Given the description of an element on the screen output the (x, y) to click on. 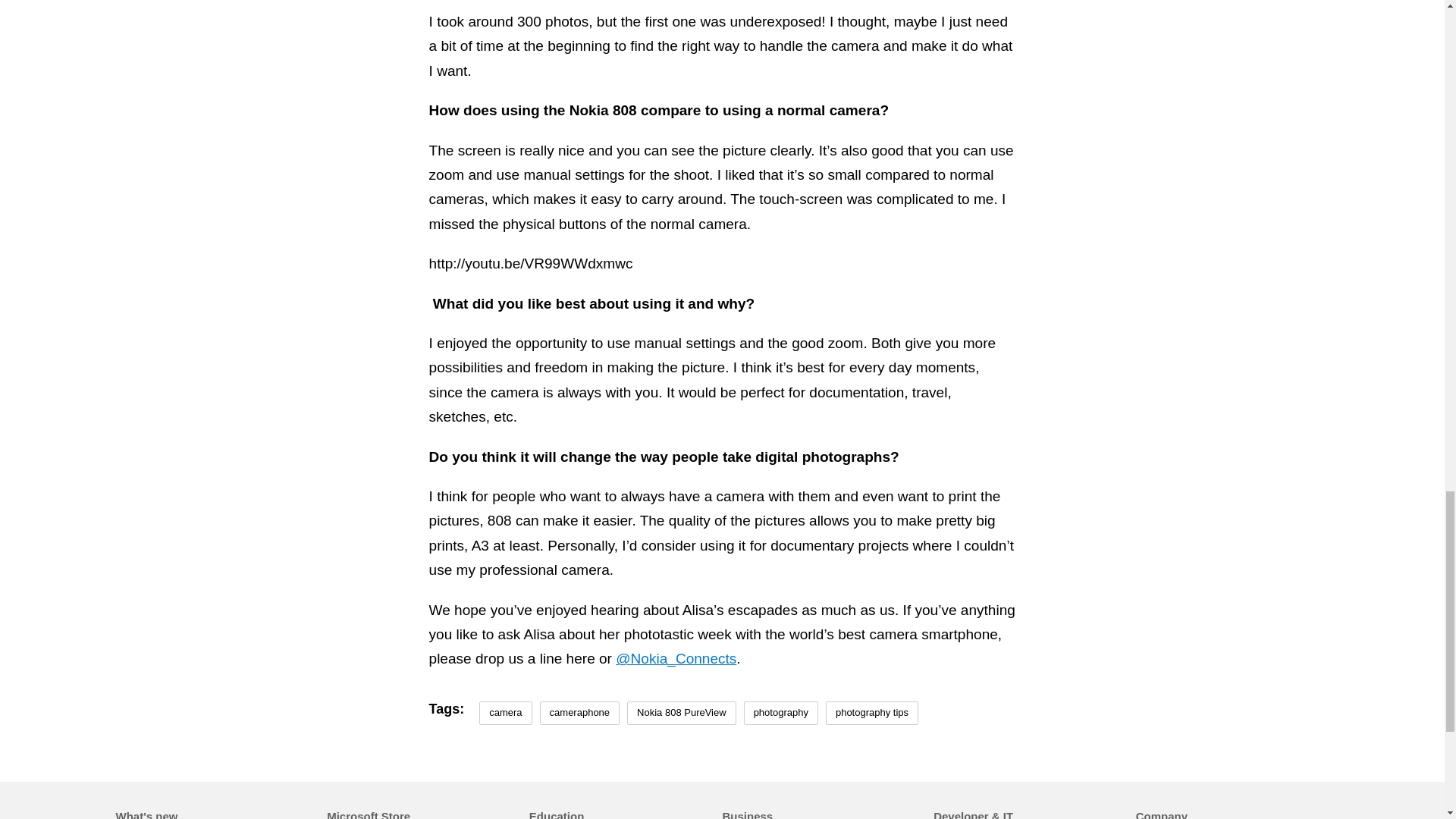
cameraphone Tag (580, 712)
Nokia 808 PureView Tag (681, 712)
camera Tag (505, 712)
photography tips Tag (871, 712)
photography Tag (781, 712)
